Given the description of an element on the screen output the (x, y) to click on. 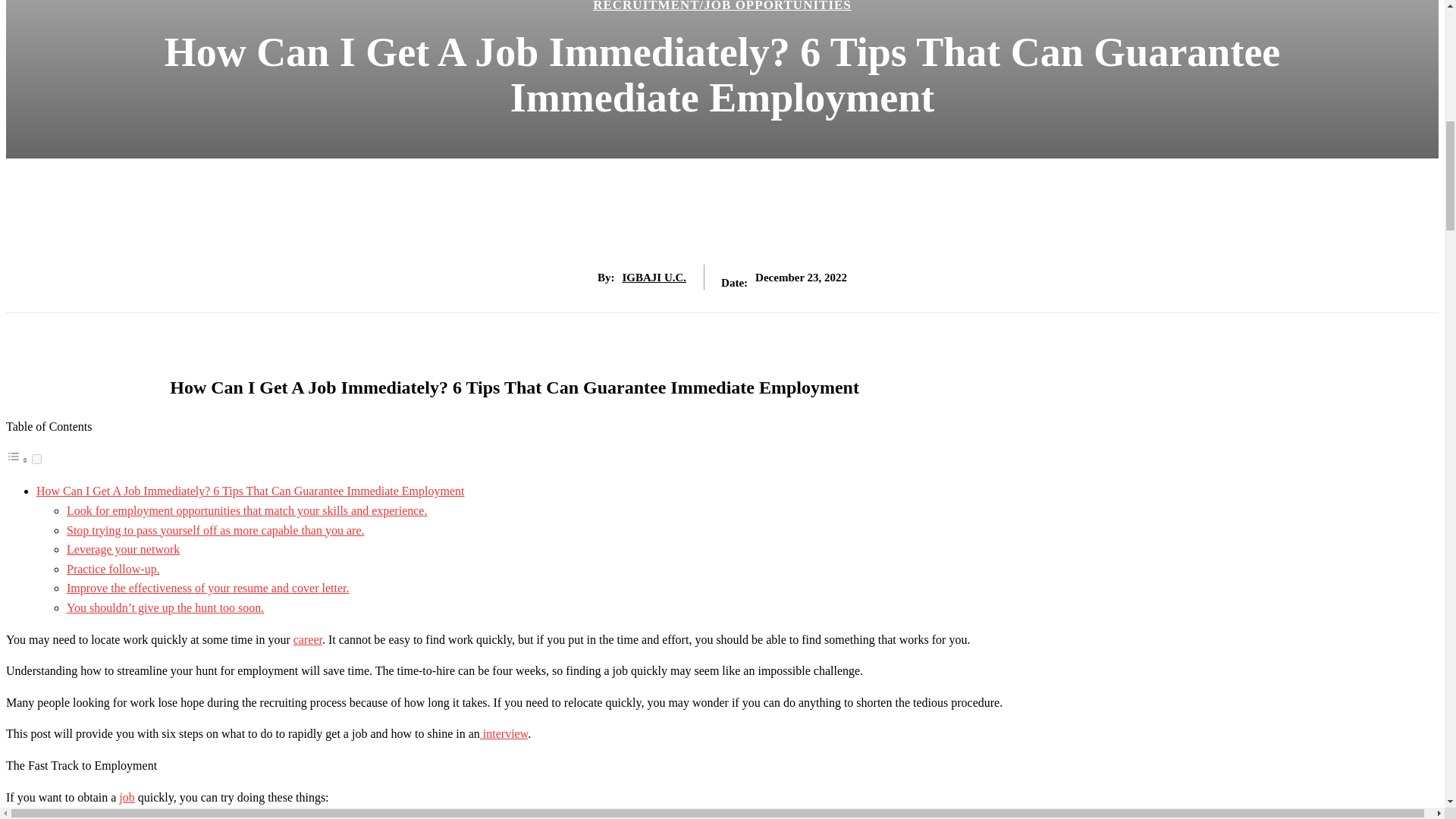
on (37, 459)
